Given the description of an element on the screen output the (x, y) to click on. 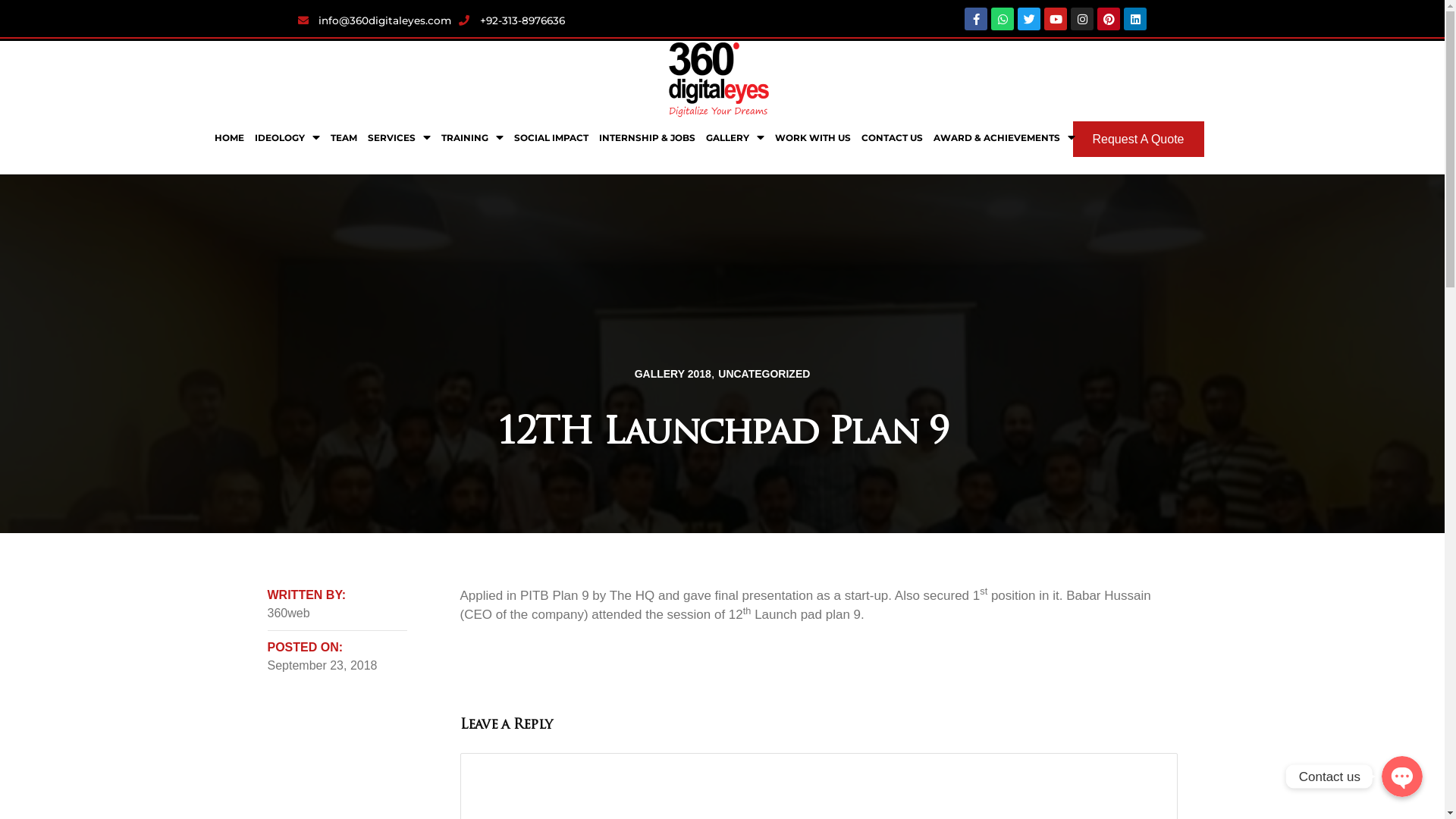
HOME Element type: text (229, 137)
GALLERY Element type: text (734, 137)
SOCIAL IMPACT Element type: text (550, 137)
UNCATEGORIZED Element type: text (763, 373)
INTERNSHIP & JOBS Element type: text (646, 137)
TEAM Element type: text (342, 137)
AWARD & ACHIEVEMENTS Element type: text (1004, 137)
WORK WITH US Element type: text (811, 137)
360 Logo PNG Element type: hover (718, 80)
TRAINING Element type: text (471, 137)
Request A Quote Element type: text (1138, 138)
SERVICES Element type: text (399, 137)
IDEOLOGY Element type: text (286, 137)
GALLERY 2018 Element type: text (672, 373)
CONTACT US Element type: text (891, 137)
